Given the description of an element on the screen output the (x, y) to click on. 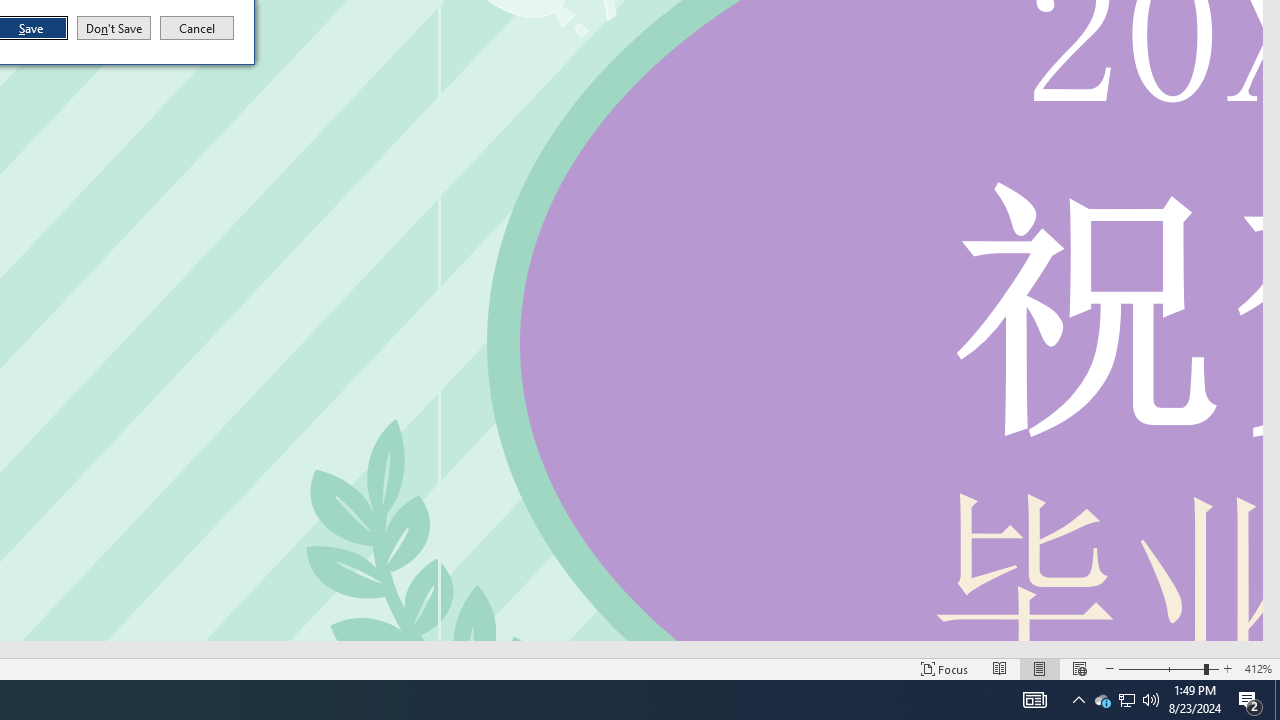
Q2790: 100% (1151, 699)
User Promoted Notification Area (1126, 699)
